Given the description of an element on the screen output the (x, y) to click on. 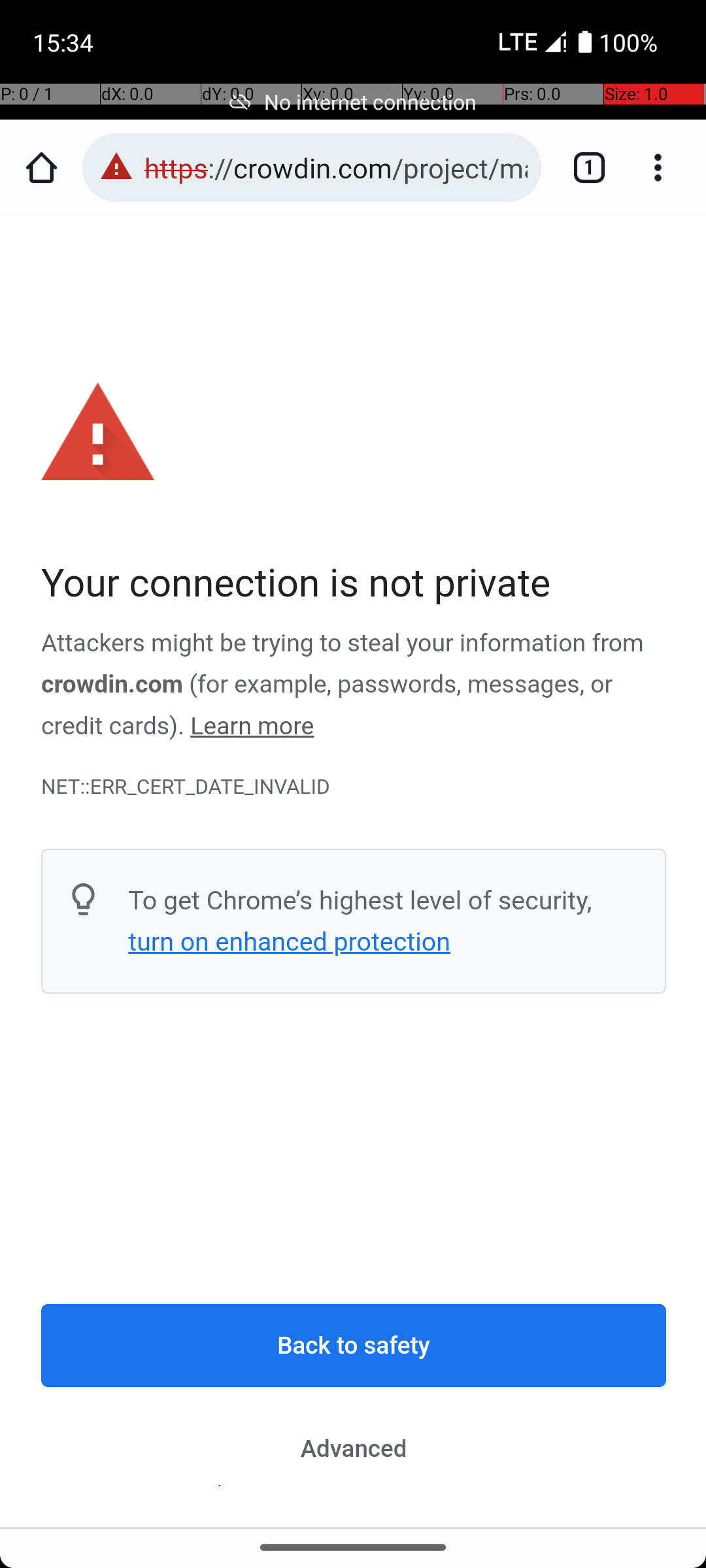
https://crowdin.com/project/markor/invite Element type: android.widget.EditText (335, 167)
crowdin.com Element type: android.widget.TextView (112, 684)
